Given the description of an element on the screen output the (x, y) to click on. 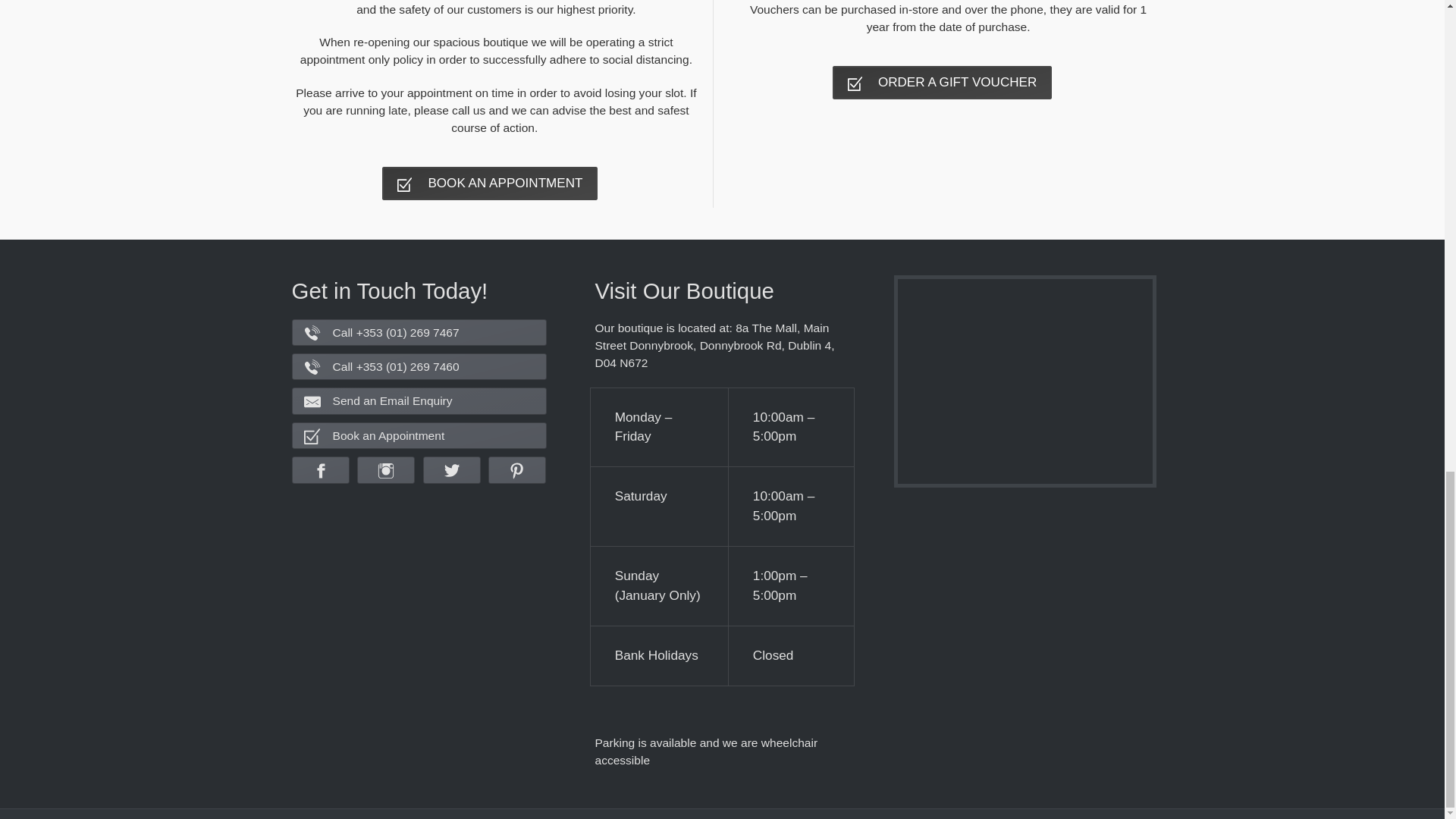
BOOK AN APPOINTMENT (488, 183)
Book an Appointment (419, 435)
Send an Email Enquiry (419, 400)
ORDER A GIFT VOUCHER (941, 82)
